Given the description of an element on the screen output the (x, y) to click on. 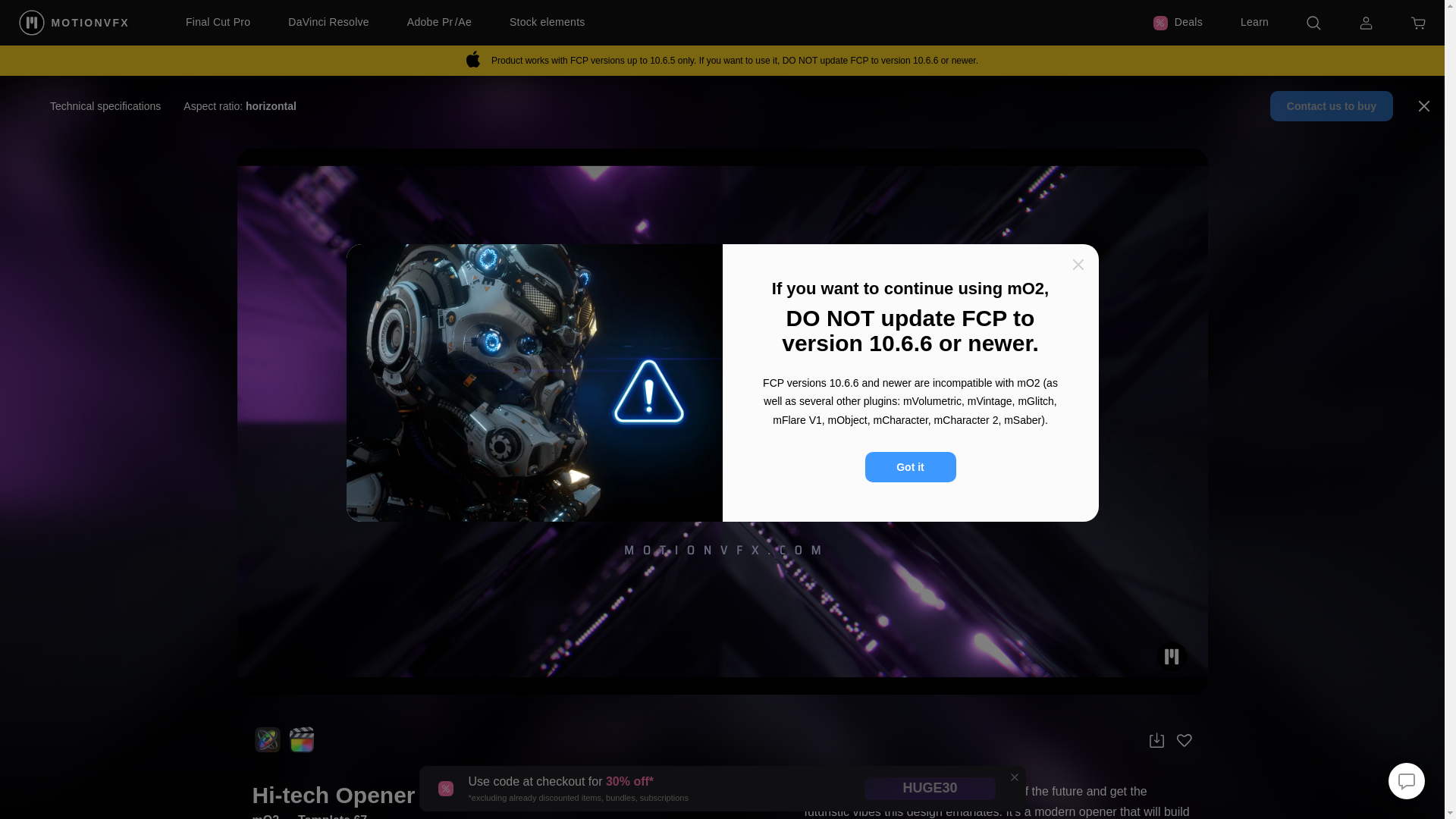
Stock elements (547, 22)
Deals (1177, 22)
Final Cut Pro (218, 22)
DaVinci Resolve (328, 22)
MOTIONVFX (75, 22)
